Given the description of an element on the screen output the (x, y) to click on. 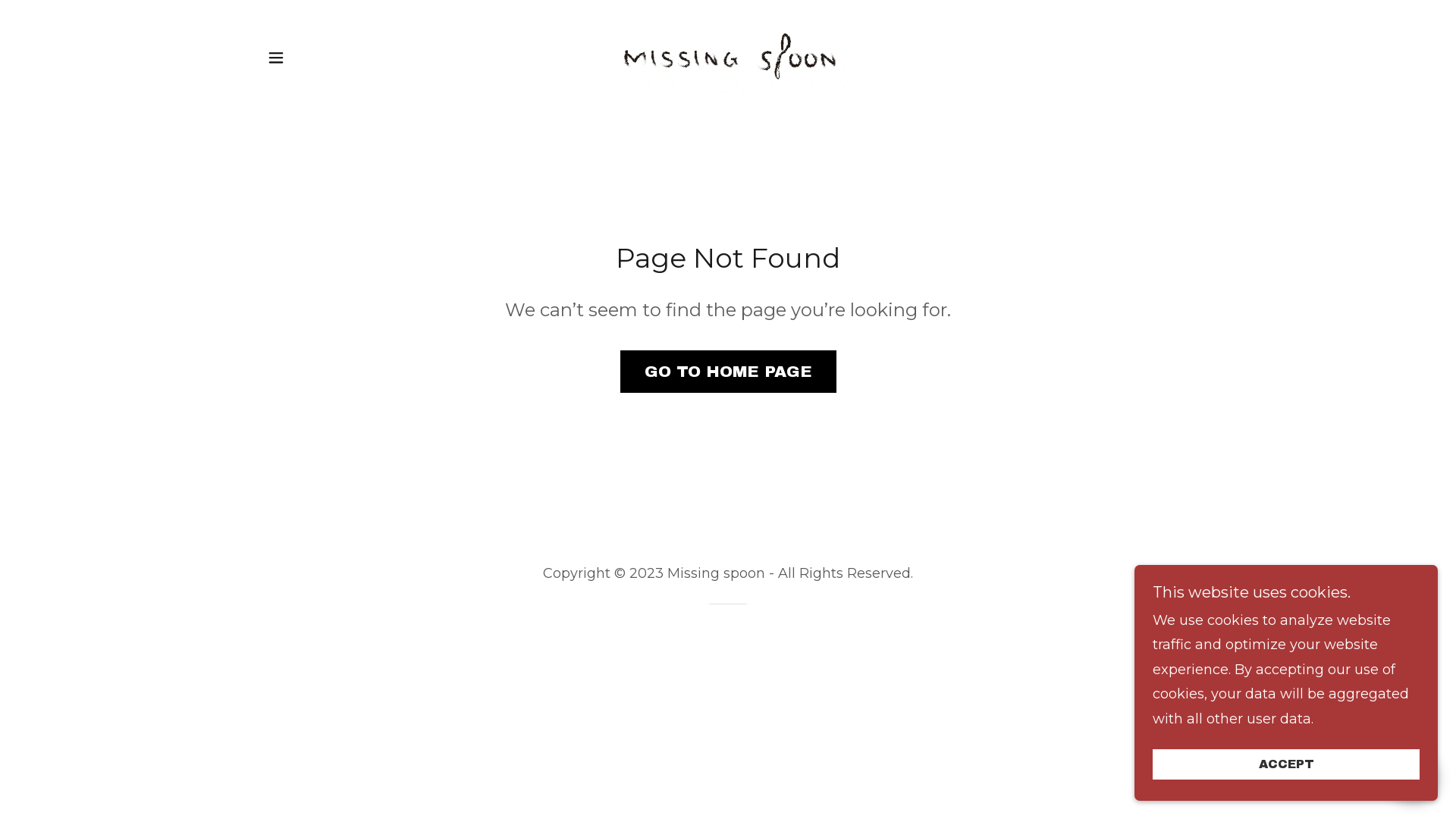
GO TO HOME PAGE Element type: text (728, 371)
Missing spoon Element type: hover (727, 56)
ACCEPT Element type: text (1285, 764)
